Given the description of an element on the screen output the (x, y) to click on. 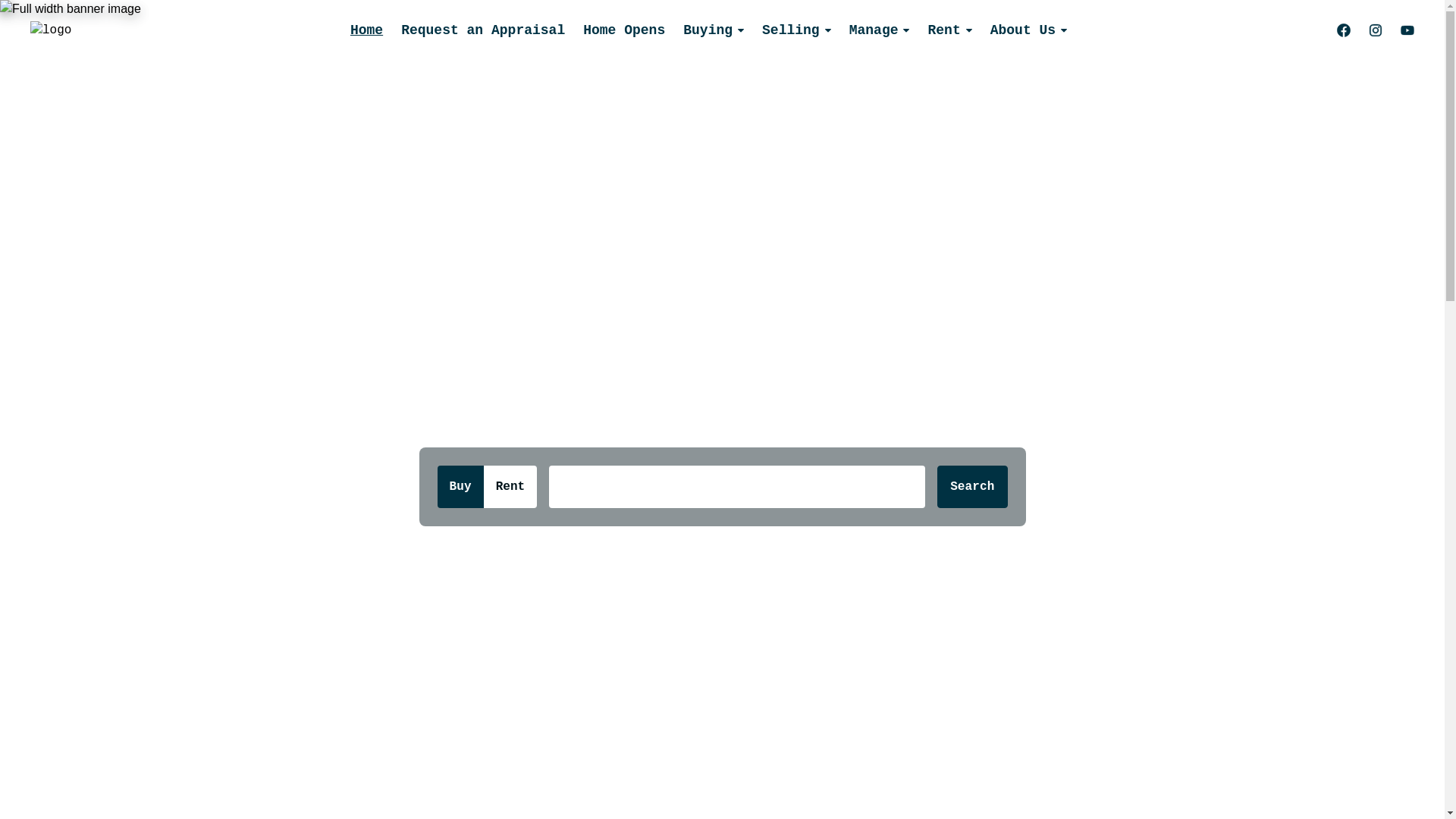
Home Element type: text (366, 29)
Home Opens Element type: text (624, 29)
Buy Element type: text (459, 486)
Search Element type: text (972, 486)
Rent Element type: text (509, 486)
Request an Appraisal Element type: text (483, 29)
